Given the description of an element on the screen output the (x, y) to click on. 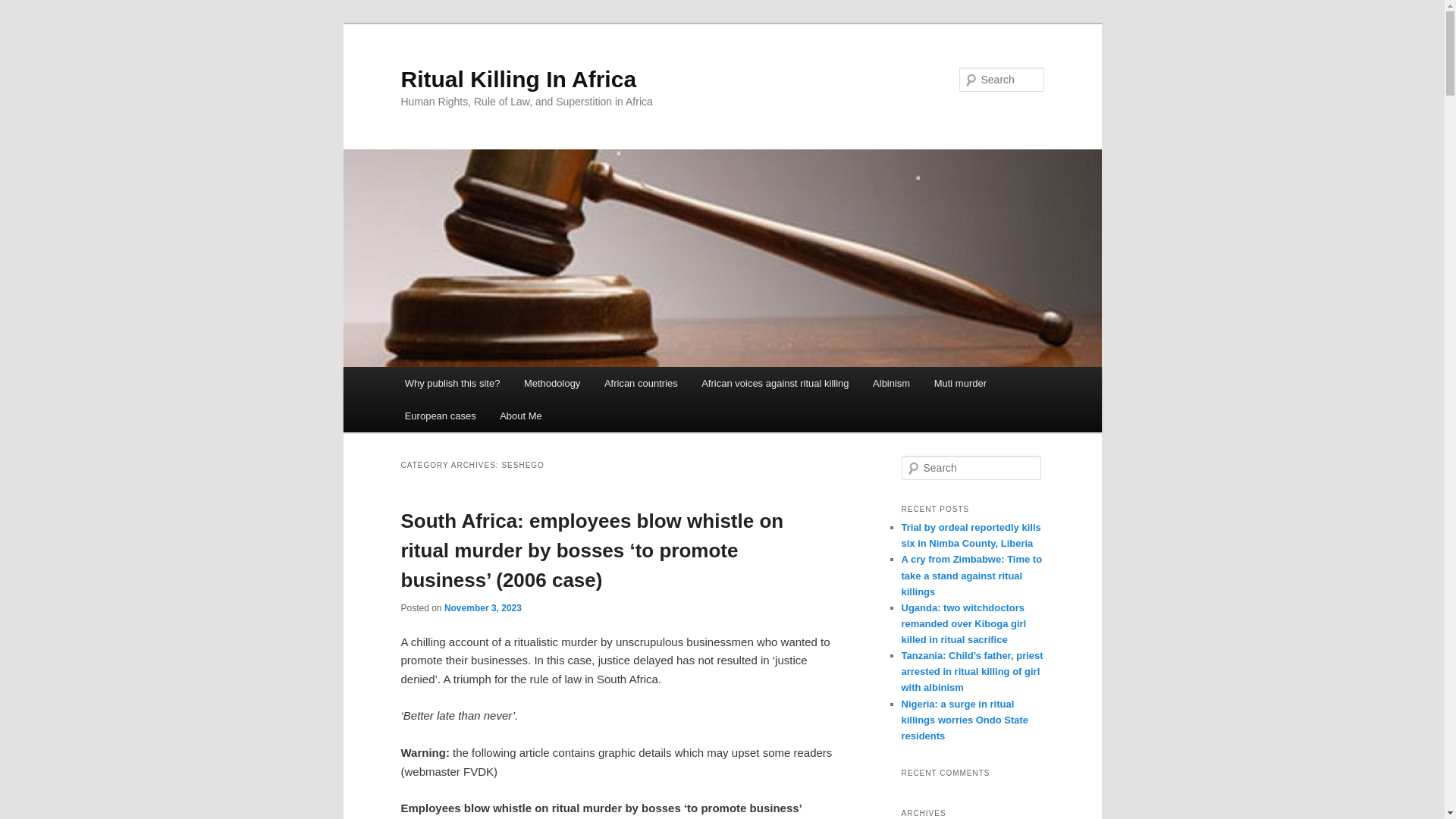
Albinism (890, 382)
Why publish this site? (452, 382)
Search (24, 8)
Ritual Killing In Africa (518, 78)
07:59 (482, 607)
Methodology (552, 382)
African countries (640, 382)
